Given the description of an element on the screen output the (x, y) to click on. 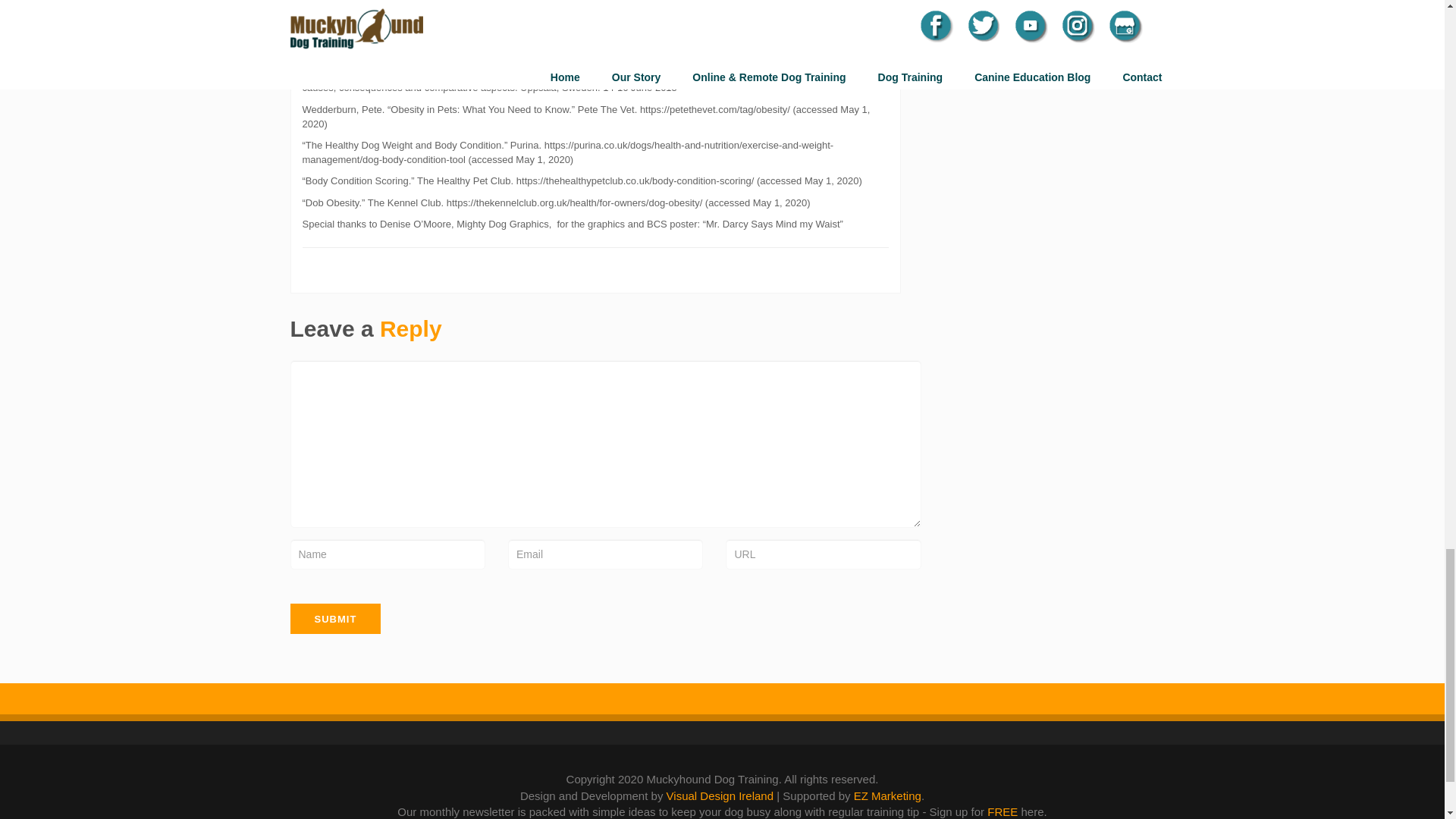
Visual Design Ireland (719, 795)
SUBMIT (334, 618)
SUBMIT (334, 618)
Visual Design, Web Design Cavan, Ireland (719, 795)
Sign up FREE (1002, 811)
